Given the description of an element on the screen output the (x, y) to click on. 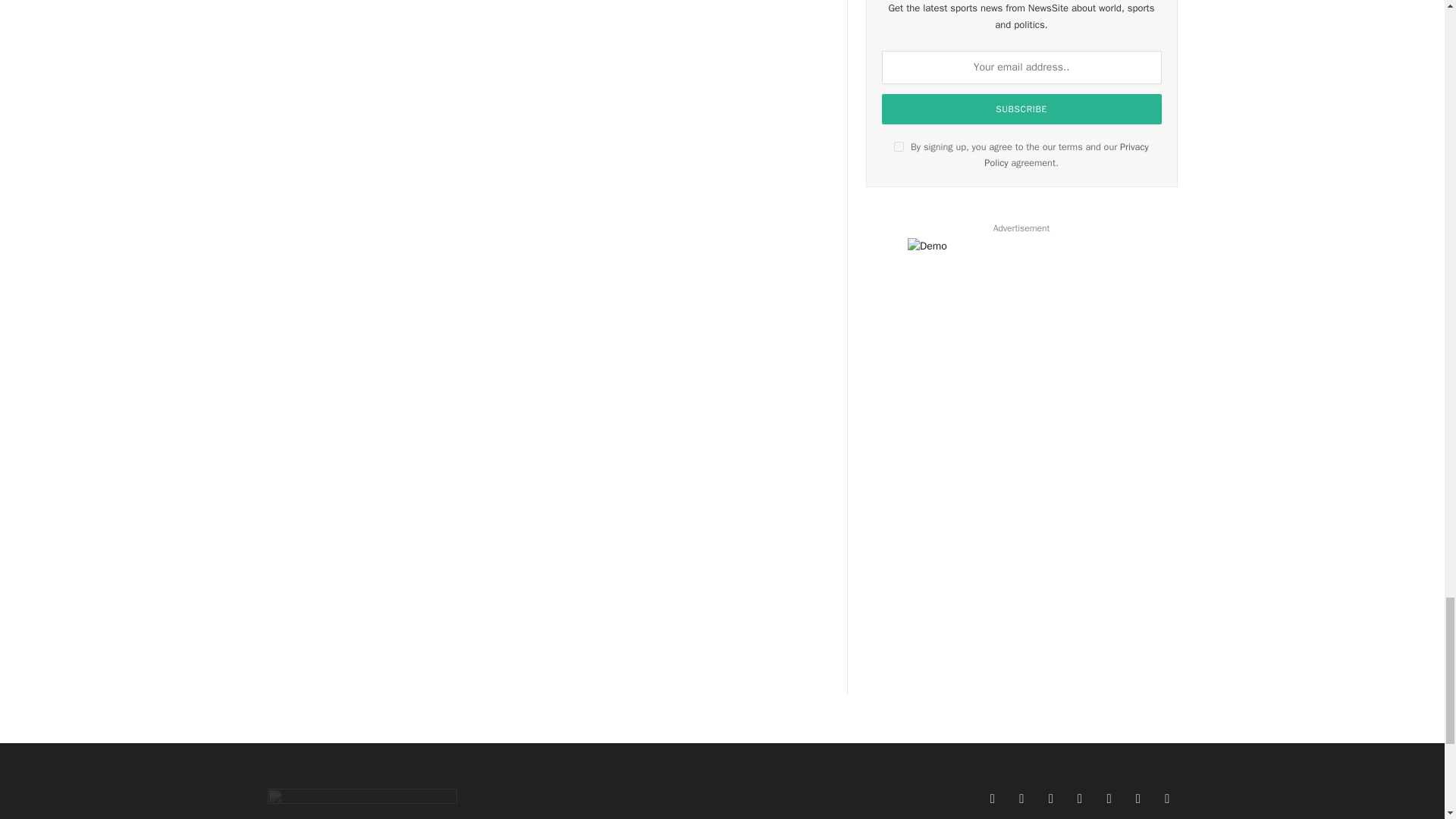
Subscribe (1021, 109)
on (898, 146)
